Given the description of an element on the screen output the (x, y) to click on. 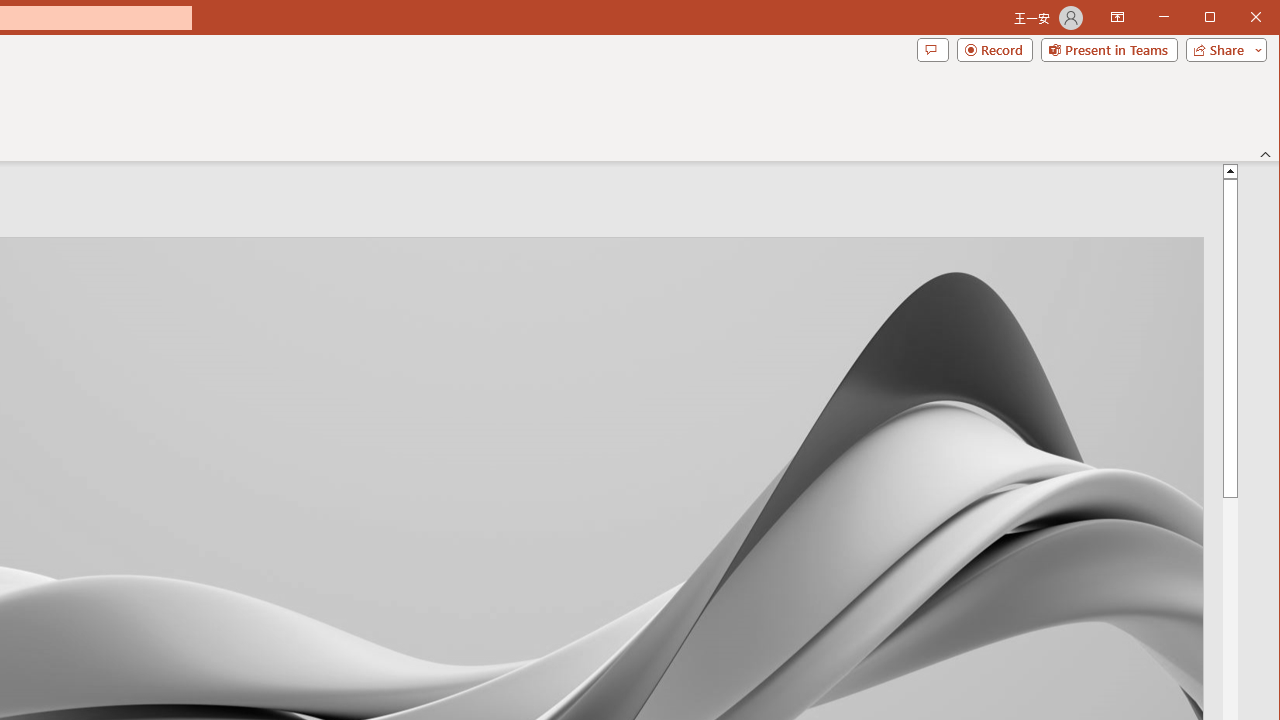
Maximize (1238, 18)
